Given the description of an element on the screen output the (x, y) to click on. 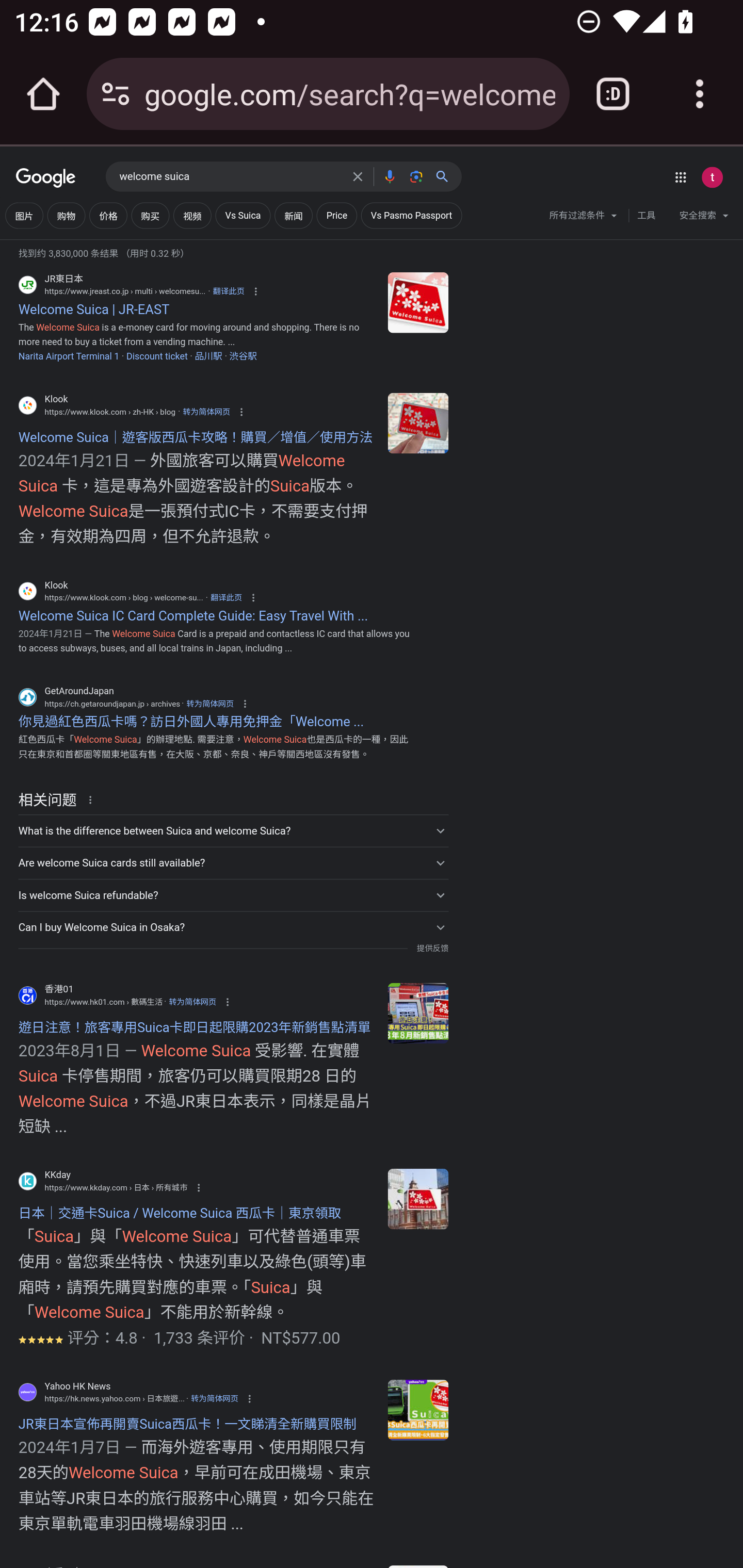
Open the home page (43, 93)
Connection is secure (115, 93)
Switch or close tabs (612, 93)
Customize and control Google Chrome (699, 93)
清除 (357, 176)
按语音搜索 (389, 176)
按图搜索 (415, 176)
搜索 (446, 176)
Google 应用 (680, 176)
Google 账号： test appium (testappium002@gmail.com) (712, 176)
Google (45, 178)
welcome suica (229, 177)
图片 (24, 215)
购物 (65, 215)
添加“价格” 价格 (107, 215)
添加“购买” 购买 (149, 215)
视频 (191, 215)
添加“Vs Suica” Vs Suica (242, 215)
新闻 (293, 215)
添加“Price” Price (336, 215)
添加“Vs Pasmo Passport” Vs Pasmo Passport (411, 215)
所有过滤条件 (583, 217)
工具 (646, 215)
安全搜索 (703, 217)
welcomesuica (417, 301)
翻译此页 (227, 291)
Narita Airport Terminal 1 (68, 356)
Discount ticket (156, 356)
品川駅 (208, 356)
渋谷駅 (242, 356)
welcome-suica-card-guide (417, 422)
转为简体网页 (205, 411)
翻译此页 (225, 597)
转为简体网页 (209, 703)
关于这条结果的详细信息 (93, 798)
Are welcome Suica cards still available? (232, 862)
Is welcome Suica refundable? (232, 895)
Can I buy Welcome Suica in Osaka? (232, 927)
提供反馈 (432, 947)
转为简体网页 (192, 1001)
18569-japan-suica-card-tokyo-pick-up (417, 1198)
转为简体网页 (214, 1398)
